Given the description of an element on the screen output the (x, y) to click on. 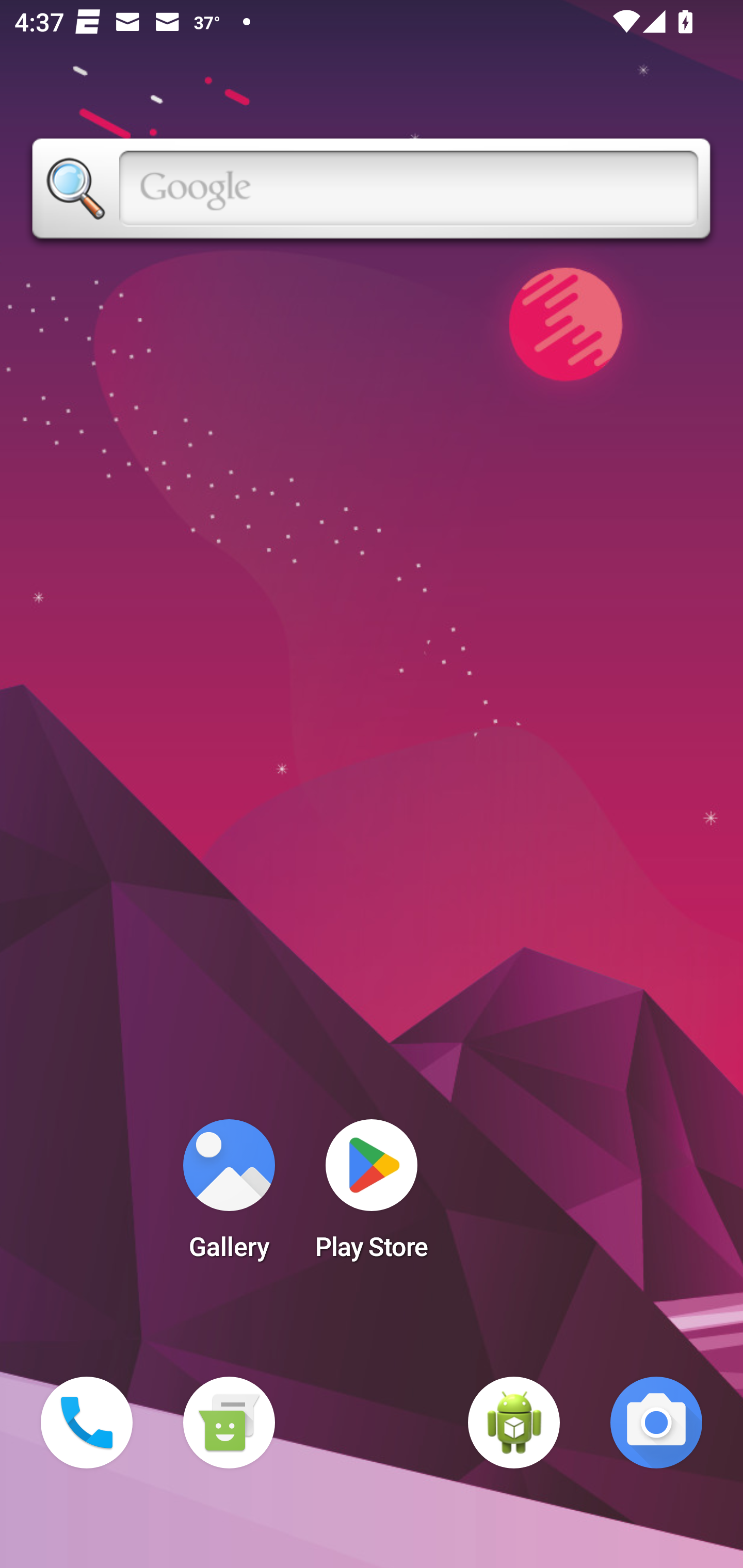
Gallery (228, 1195)
Play Store (371, 1195)
Phone (86, 1422)
Messaging (228, 1422)
WebView Browser Tester (513, 1422)
Camera (656, 1422)
